Given the description of an element on the screen output the (x, y) to click on. 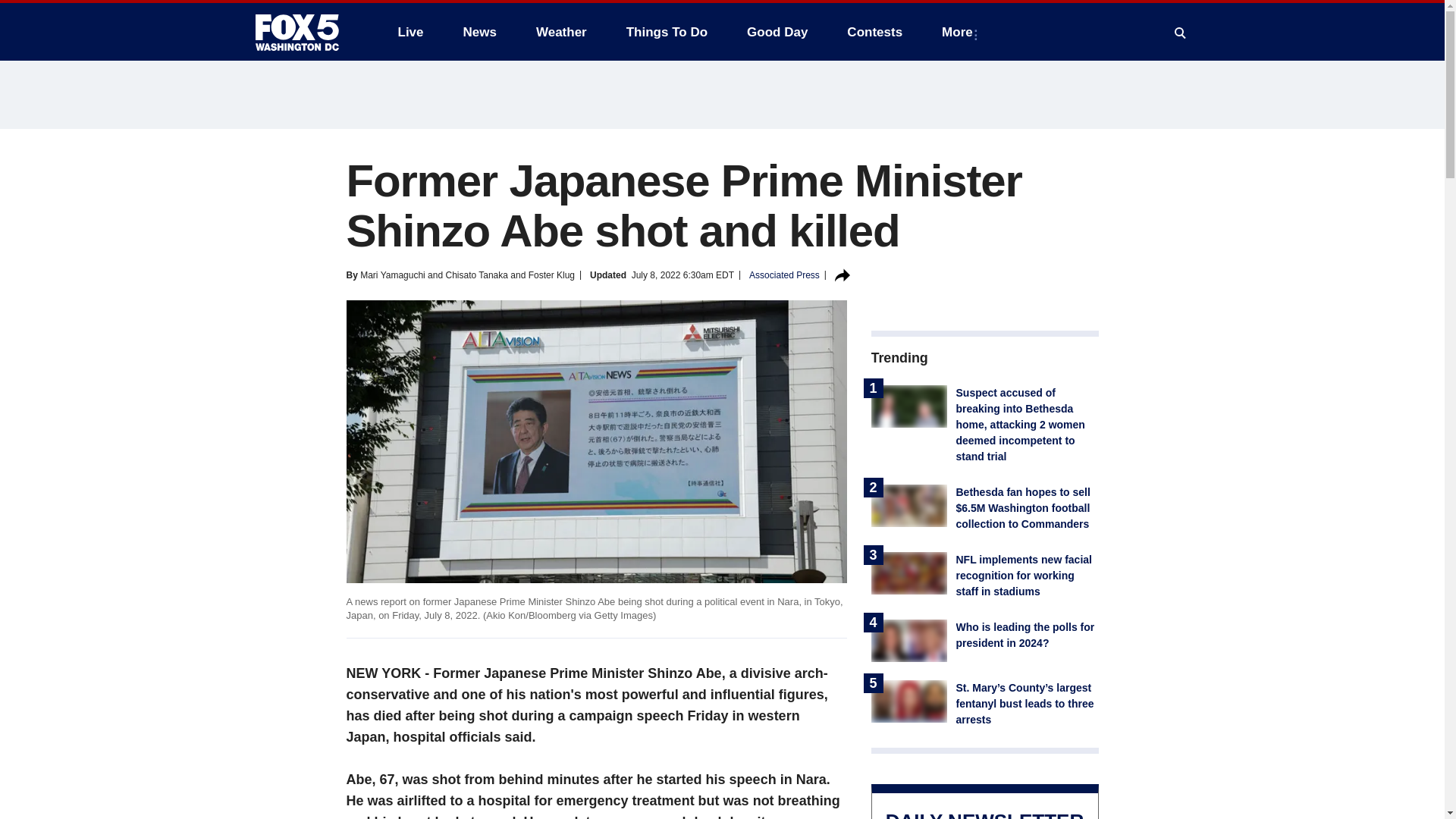
Good Day (777, 32)
More (960, 32)
Live (410, 32)
Weather (561, 32)
News (479, 32)
Contests (874, 32)
Things To Do (666, 32)
